Given the description of an element on the screen output the (x, y) to click on. 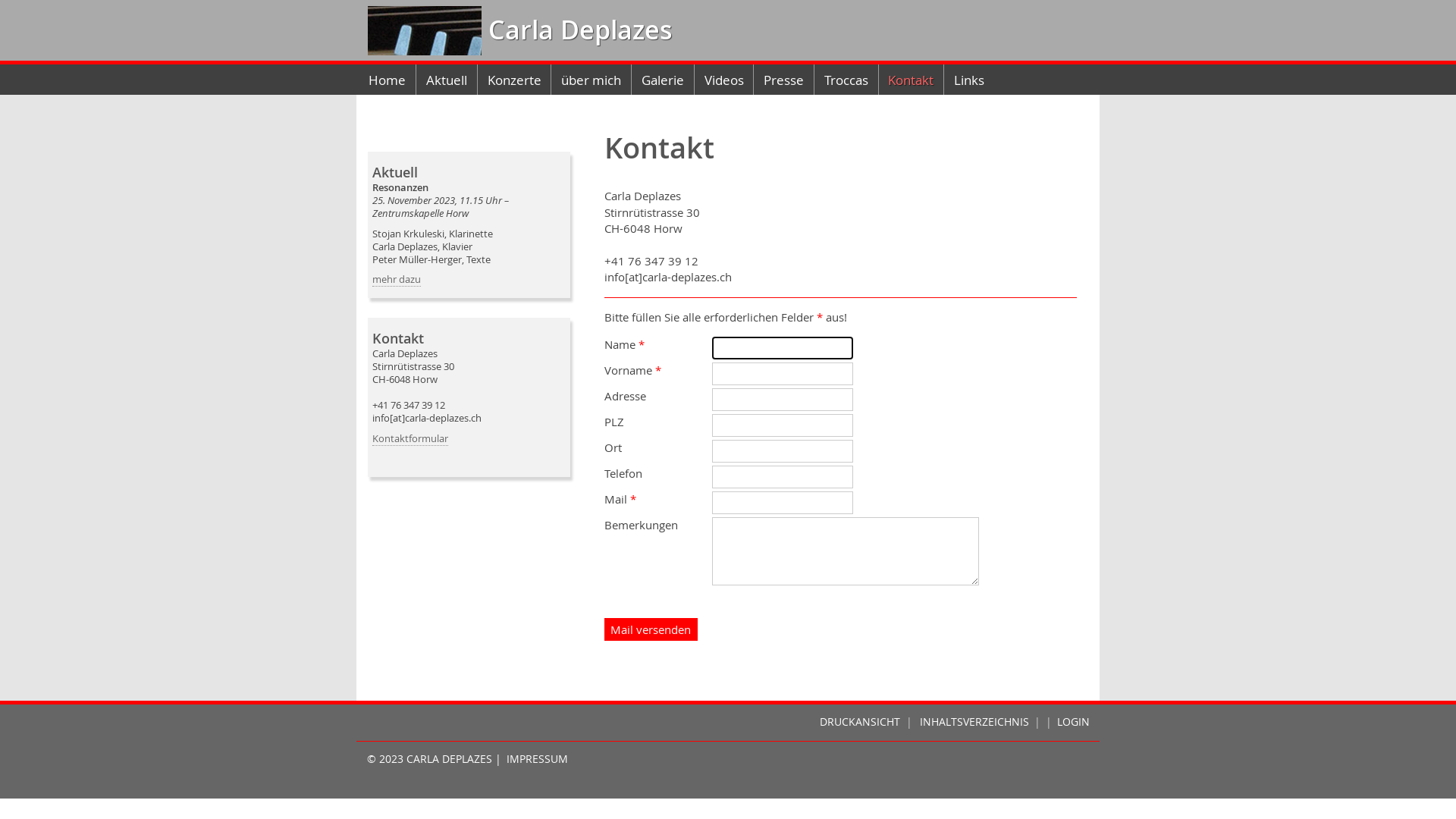
Aktuell Element type: text (446, 79)
Videos Element type: text (723, 79)
Mail versenden Element type: text (650, 629)
Kontaktformular Element type: text (410, 438)
Galerie Element type: text (662, 79)
IMPRESSUM Element type: text (536, 758)
LOGIN Element type: text (1078, 721)
Troccas Element type: text (846, 79)
 Carla Deplazes Element type: text (576, 29)
  Element type: text (424, 30)
Presse Element type: text (783, 79)
INHALTSVERZEICHNIS Element type: text (973, 721)
Konzerte Element type: text (514, 79)
Links Element type: text (969, 79)
Home Element type: text (387, 79)
DRUCKANSICHT Element type: text (860, 721)
mehr dazu Element type: text (396, 279)
